Given the description of an element on the screen output the (x, y) to click on. 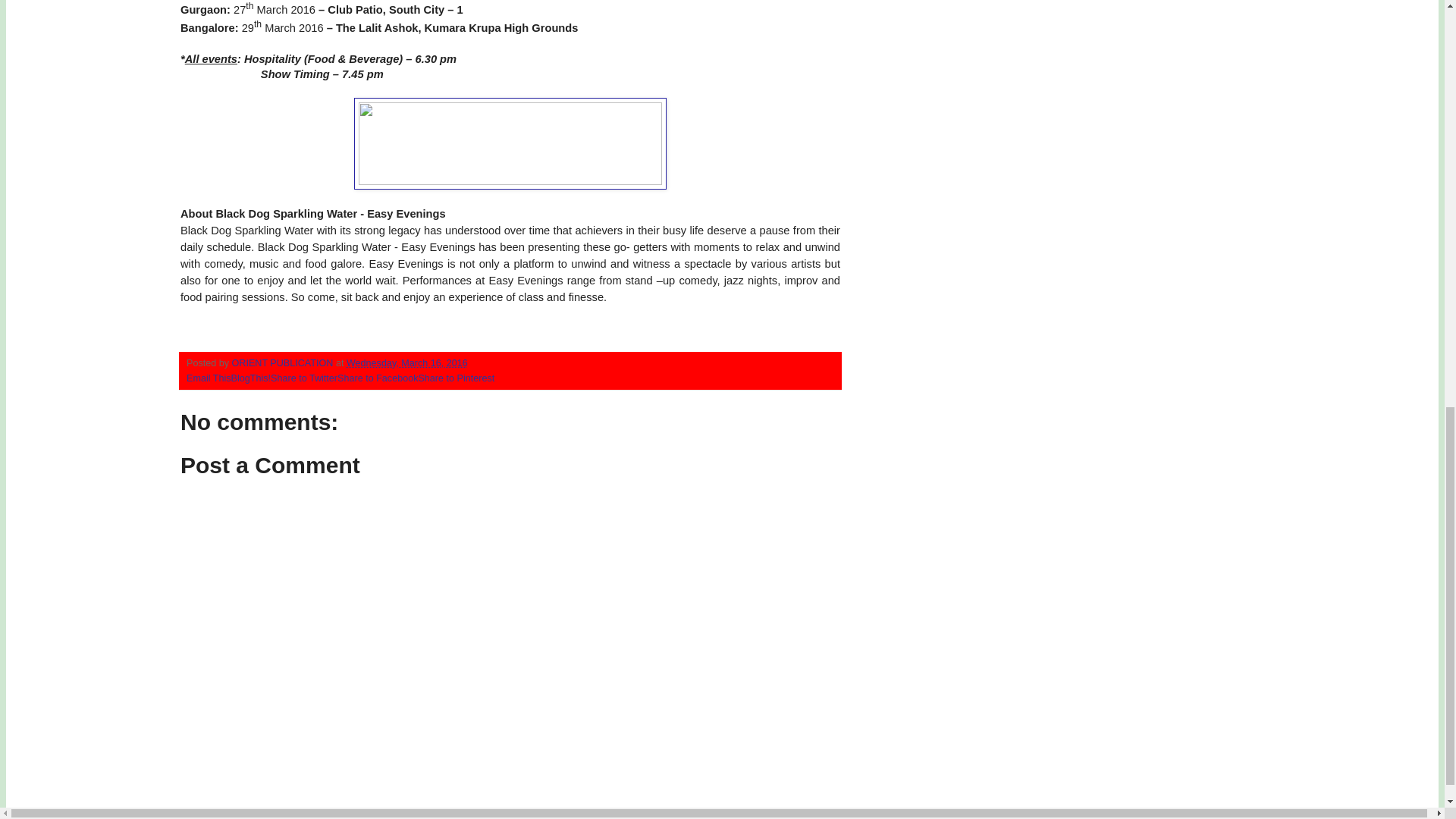
permanent link (406, 362)
Share to Pinterest (456, 378)
Email This (208, 378)
Share to Facebook (377, 378)
BlogThis! (250, 378)
Share to Facebook (377, 378)
BlogThis! (250, 378)
Share to Twitter (303, 378)
Share to Twitter (303, 378)
Share to Pinterest (456, 378)
Email This (208, 378)
Wednesday, March 16, 2016 (406, 362)
ORIENT PUBLICATION (283, 362)
author profile (283, 362)
